Given the description of an element on the screen output the (x, y) to click on. 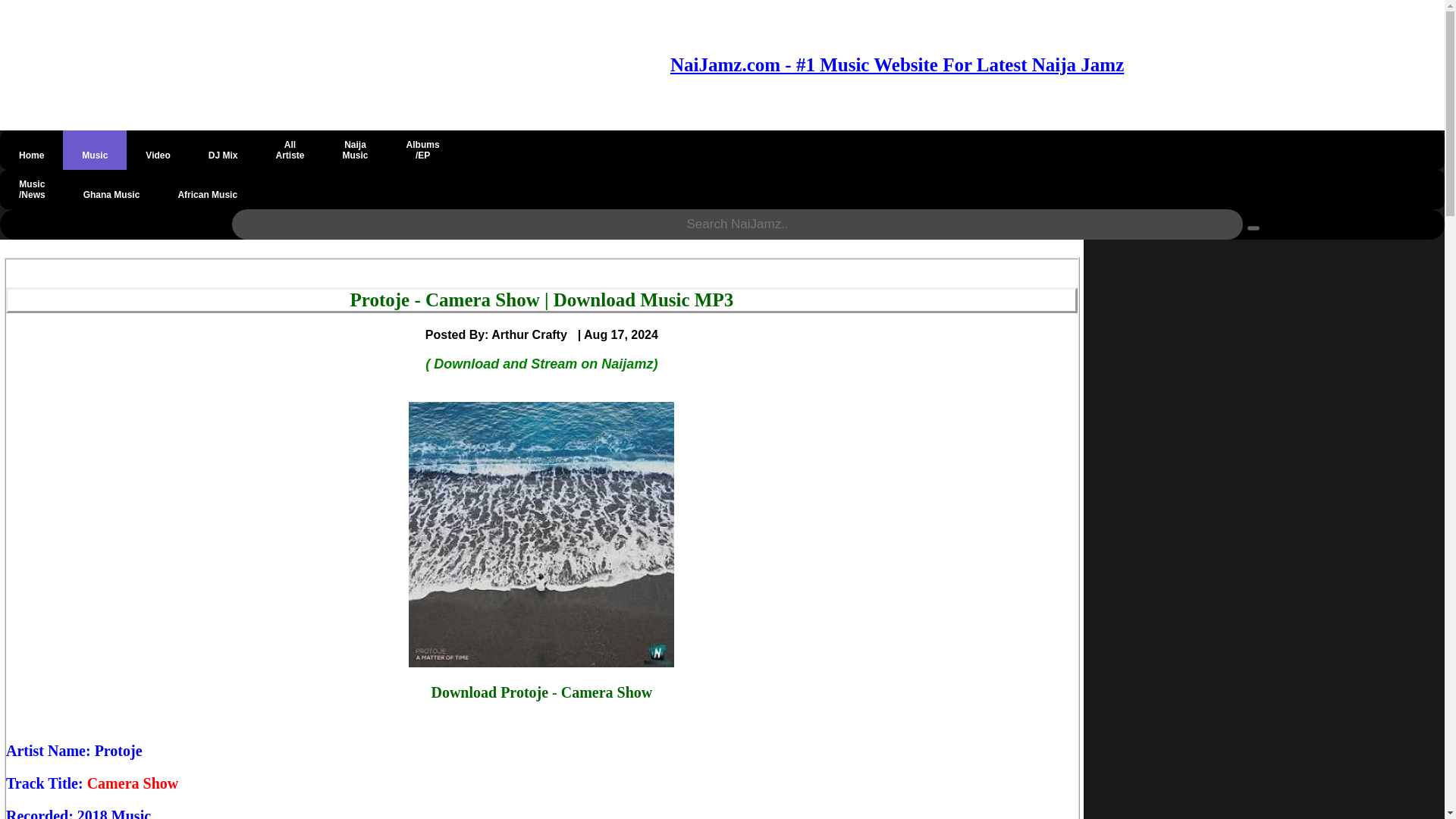
DJ Mix (223, 149)
Video (157, 149)
Posted By: Arthur Crafty   (501, 334)
Music (94, 149)
Protoje (290, 149)
Ghana Music (118, 750)
African Music (111, 189)
Search source code (355, 149)
